Given the description of an element on the screen output the (x, y) to click on. 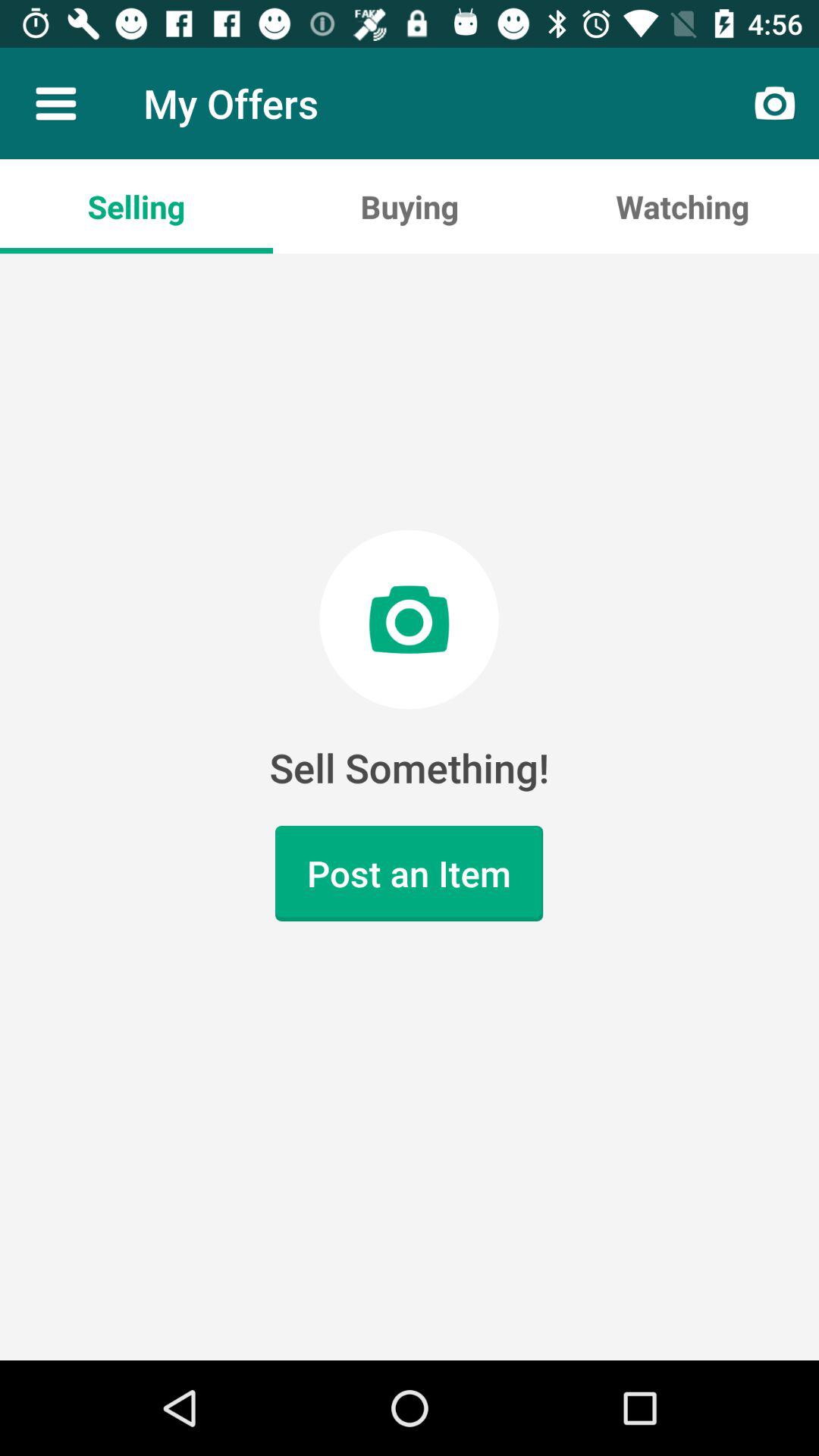
swipe until the buying app (409, 206)
